Given the description of an element on the screen output the (x, y) to click on. 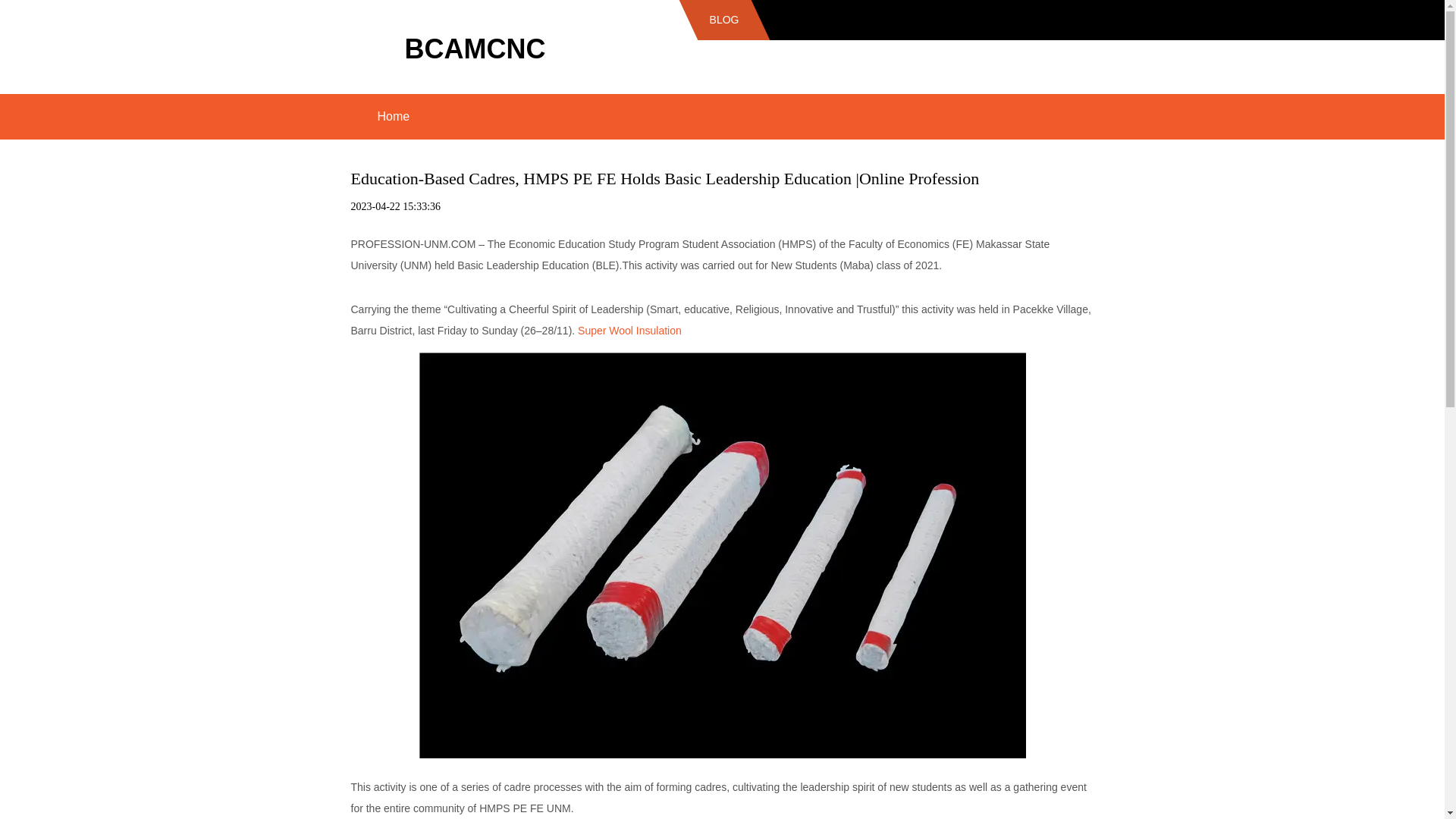
Super Wool Insulation (629, 330)
Home (392, 116)
